Given the description of an element on the screen output the (x, y) to click on. 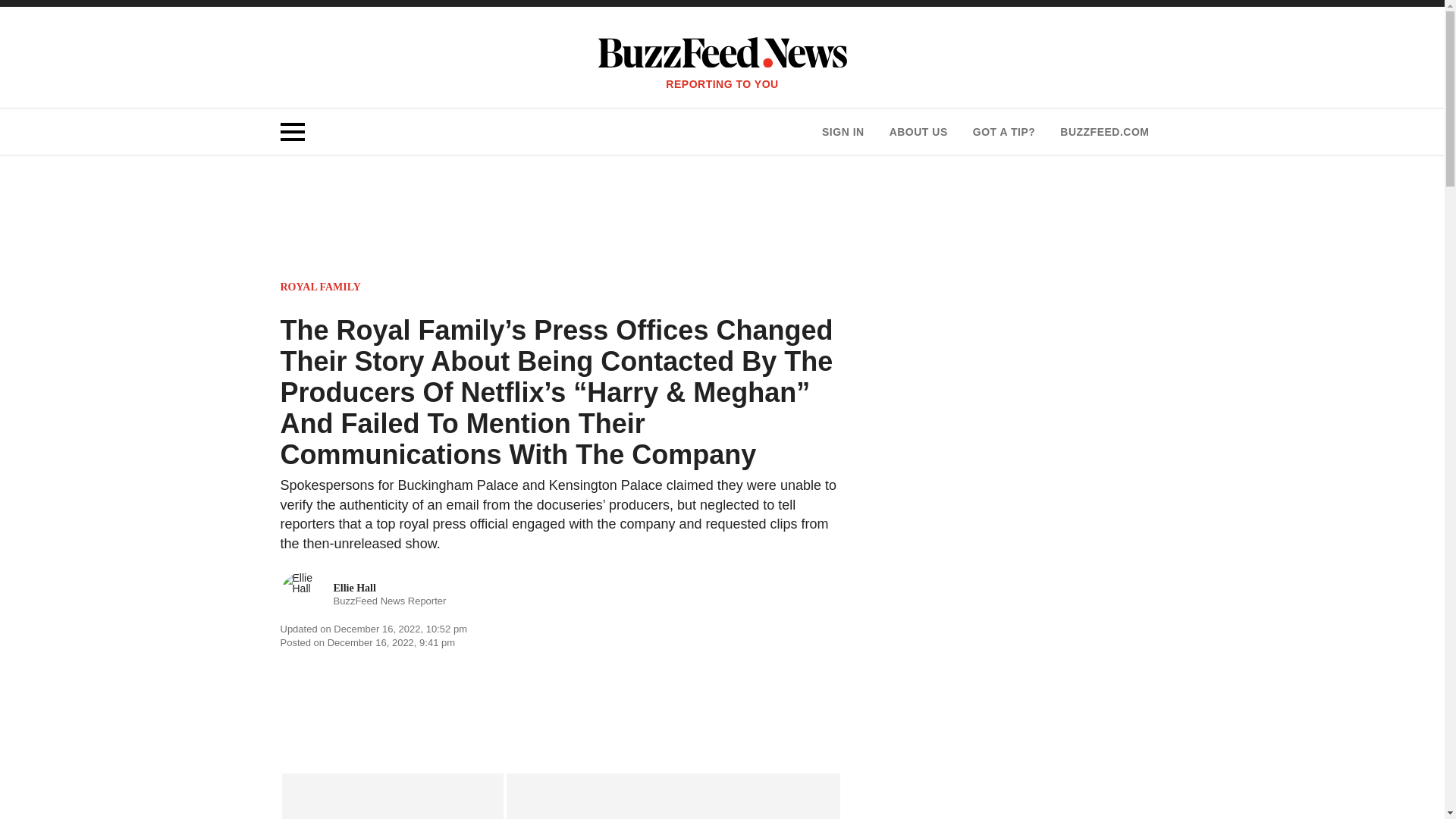
GOT A TIP? (1003, 131)
ROYAL FAMILY (321, 286)
ABOUT US (917, 131)
SIGN IN (842, 131)
BUZZFEED.COM (1103, 131)
